Given the description of an element on the screen output the (x, y) to click on. 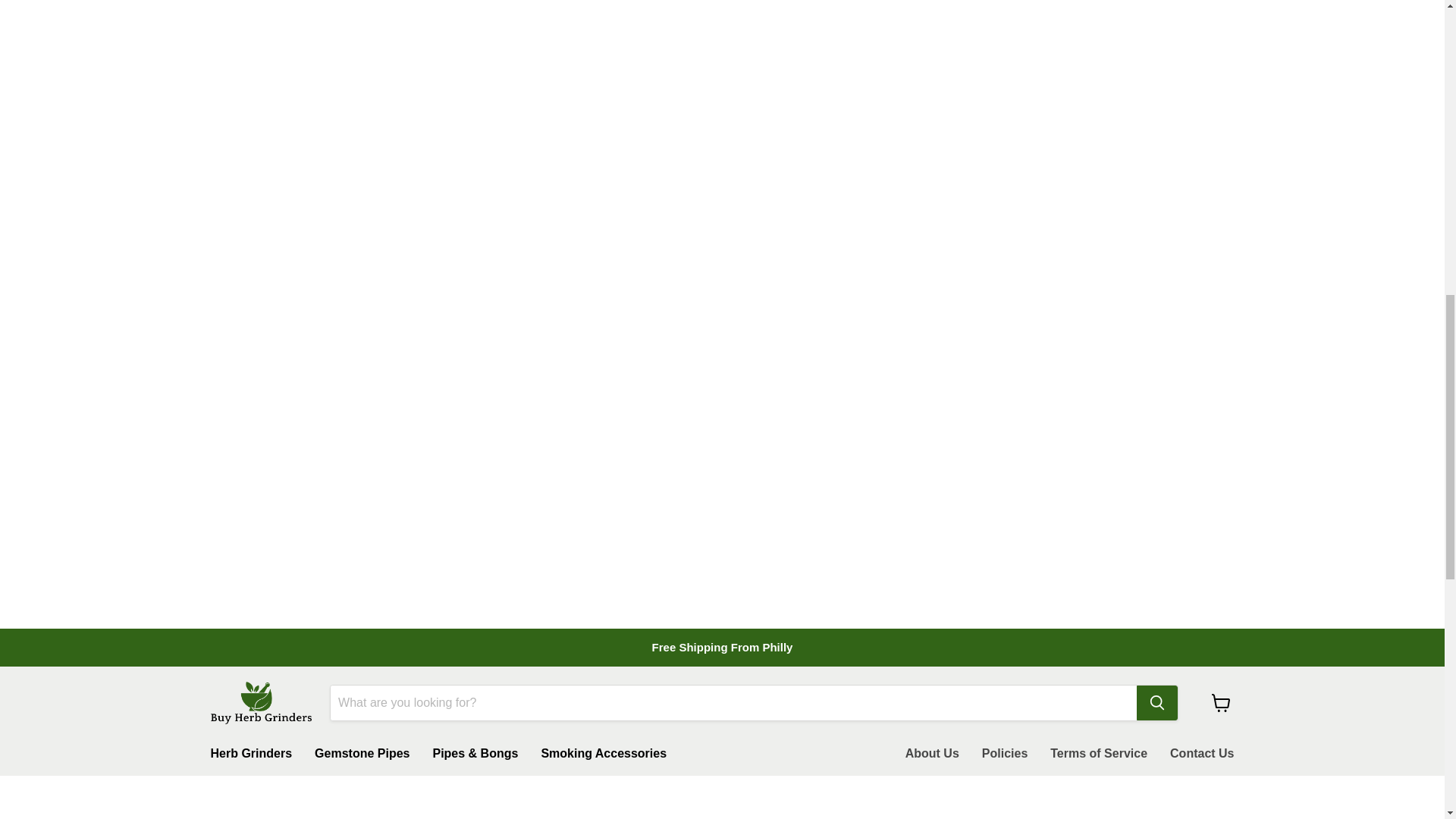
Terms of Service (1098, 753)
Smoking Accessories (603, 753)
Contact Us (1201, 753)
Gemstone Pipes (361, 753)
Policies (1005, 753)
View cart (1221, 702)
About Us (932, 753)
Herb Grinders (250, 753)
